Given the description of an element on the screen output the (x, y) to click on. 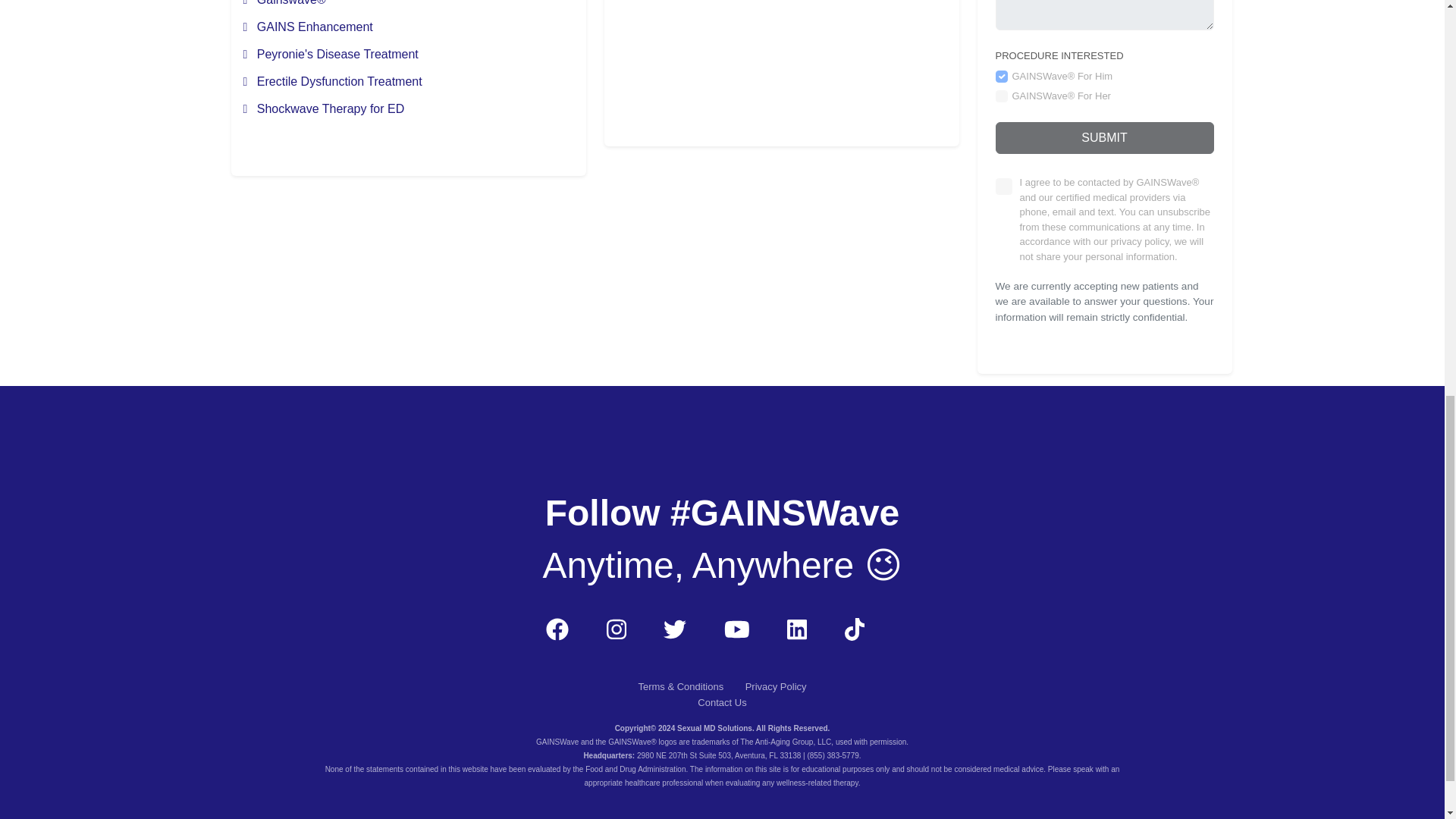
1 (1002, 186)
message (1103, 15)
